Given the description of an element on the screen output the (x, y) to click on. 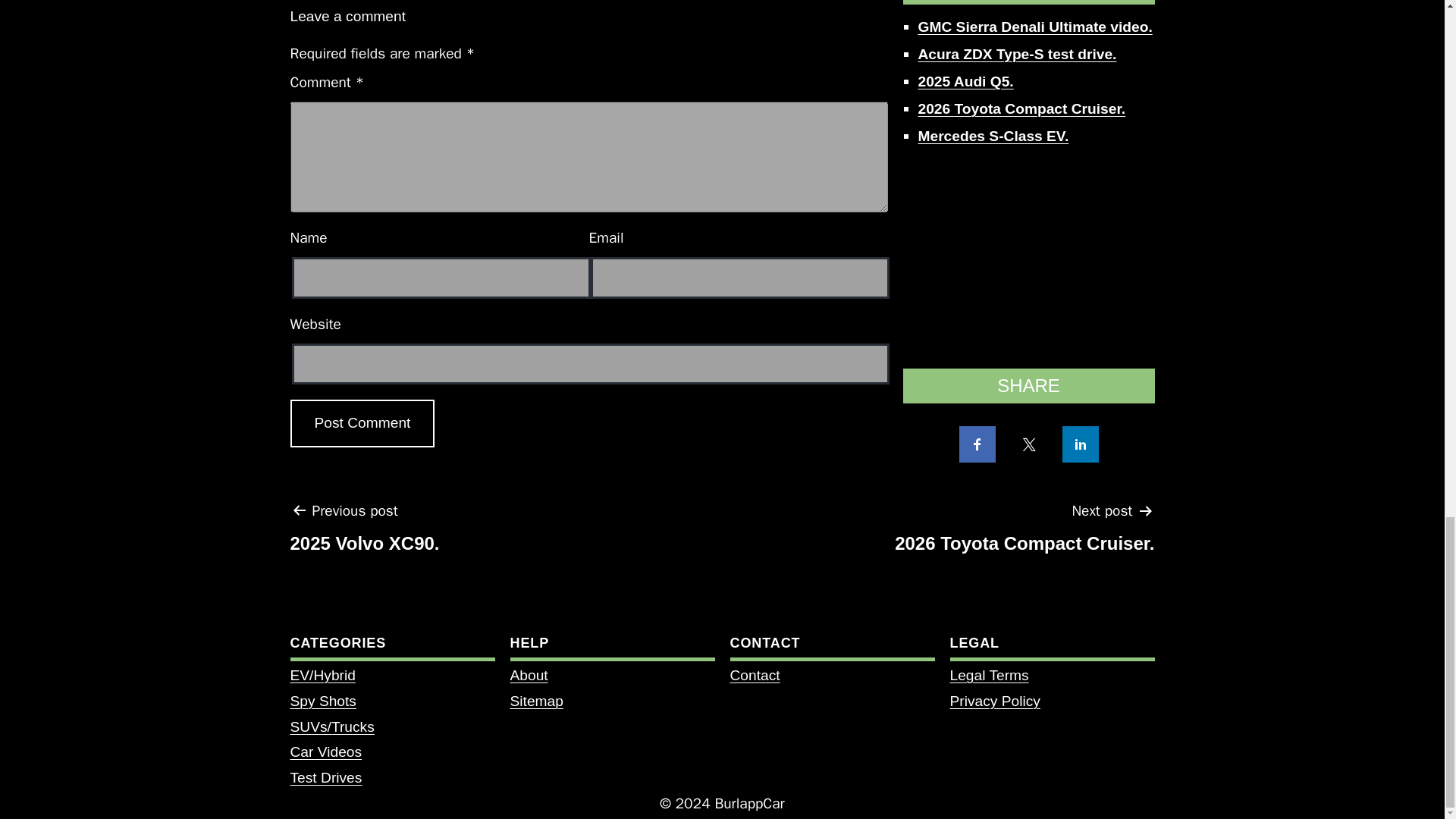
Car Videos (325, 751)
Contact (753, 675)
Sitemap (535, 700)
Spy Shots (364, 532)
Post Comment (322, 700)
Post Comment (361, 423)
Test Drives (1024, 532)
Privacy Policy (361, 423)
